Given the description of an element on the screen output the (x, y) to click on. 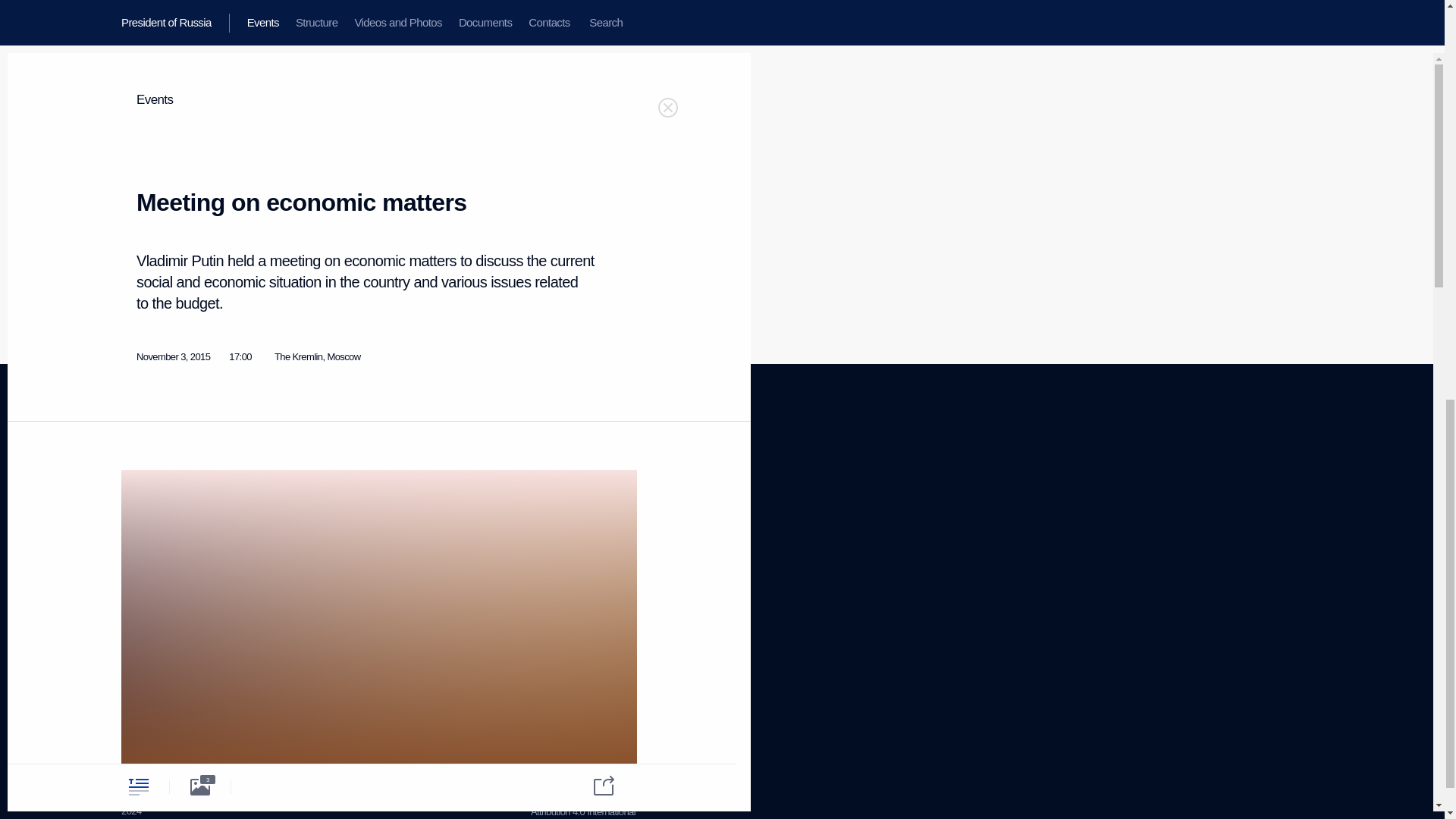
Contacts (138, 556)
Events (134, 480)
Contact website team (573, 550)
Version for People with Disabilities (165, 708)
Creative Commons Attribution 4.0 International (582, 805)
Documents (143, 537)
The Constitution of Russia (317, 487)
Personal data of website users (309, 512)
Videos and Photos (579, 525)
Using website content (158, 518)
Subscribe (574, 500)
YouTube Channel (140, 646)
Telegram Channel (429, 514)
About website (430, 496)
